Given the description of an element on the screen output the (x, y) to click on. 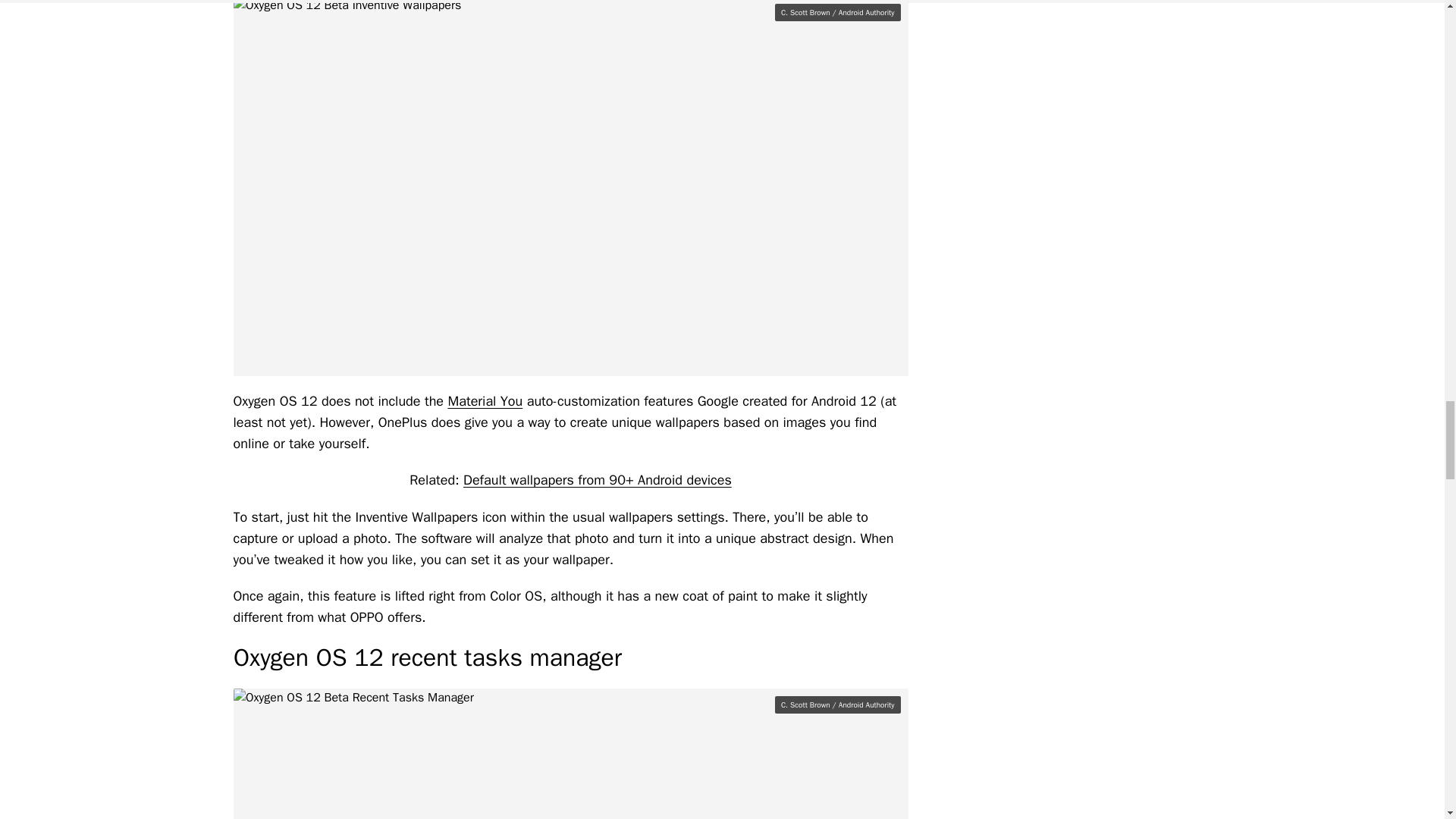
Oxygen OS 12 Beta Recent Tasks Manager (570, 753)
Material You (484, 401)
